Given the description of an element on the screen output the (x, y) to click on. 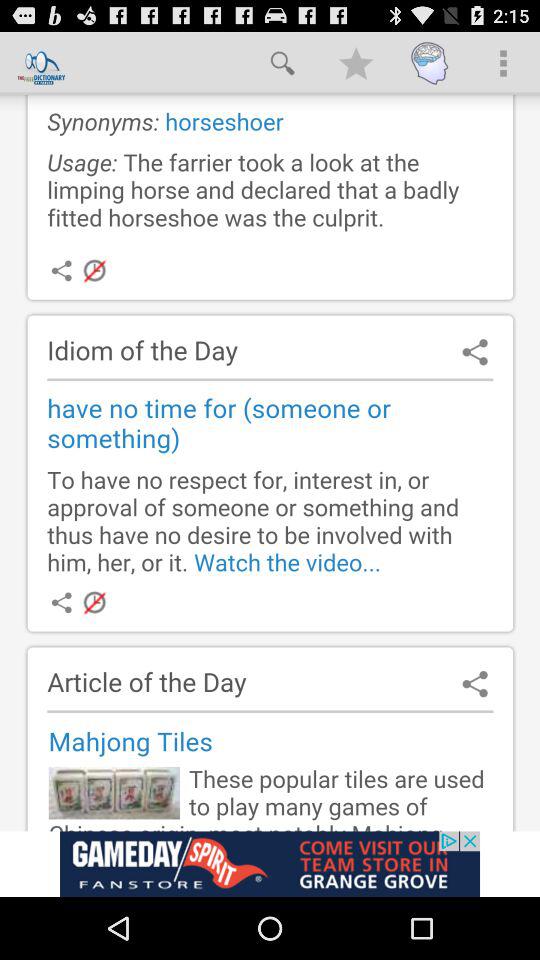
advertisement (270, 462)
